Given the description of an element on the screen output the (x, y) to click on. 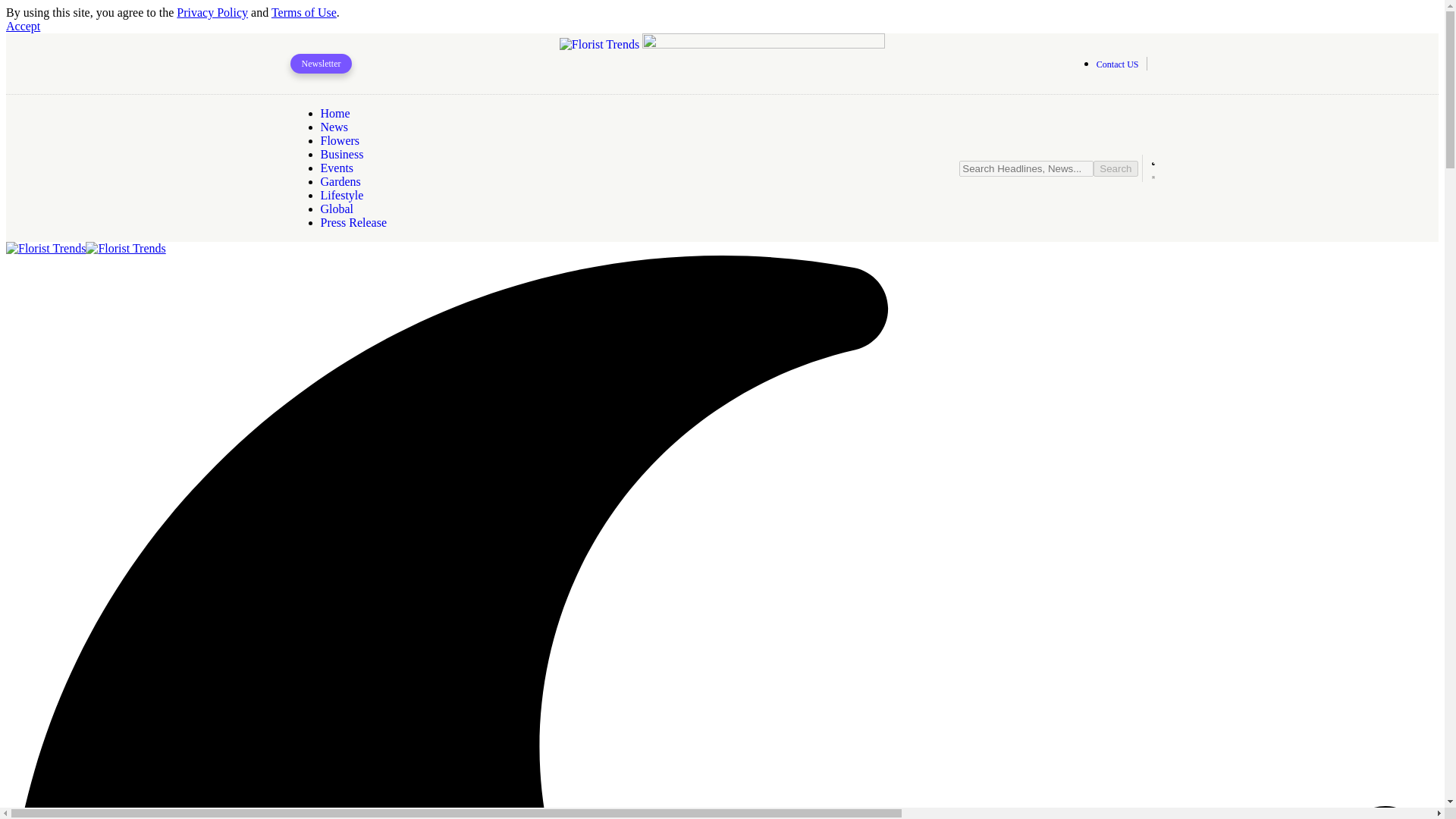
Home (334, 113)
Global (336, 208)
Newsletter (320, 63)
Contact US (1117, 63)
Lifestyle (341, 195)
Florist Trends (85, 247)
Privacy Policy (211, 11)
Press Release (353, 222)
Terms of Use (303, 11)
News (333, 126)
Gardens (339, 181)
Contact US (1101, 63)
Search (1115, 168)
Search (1115, 168)
Flowers (339, 140)
